Given the description of an element on the screen output the (x, y) to click on. 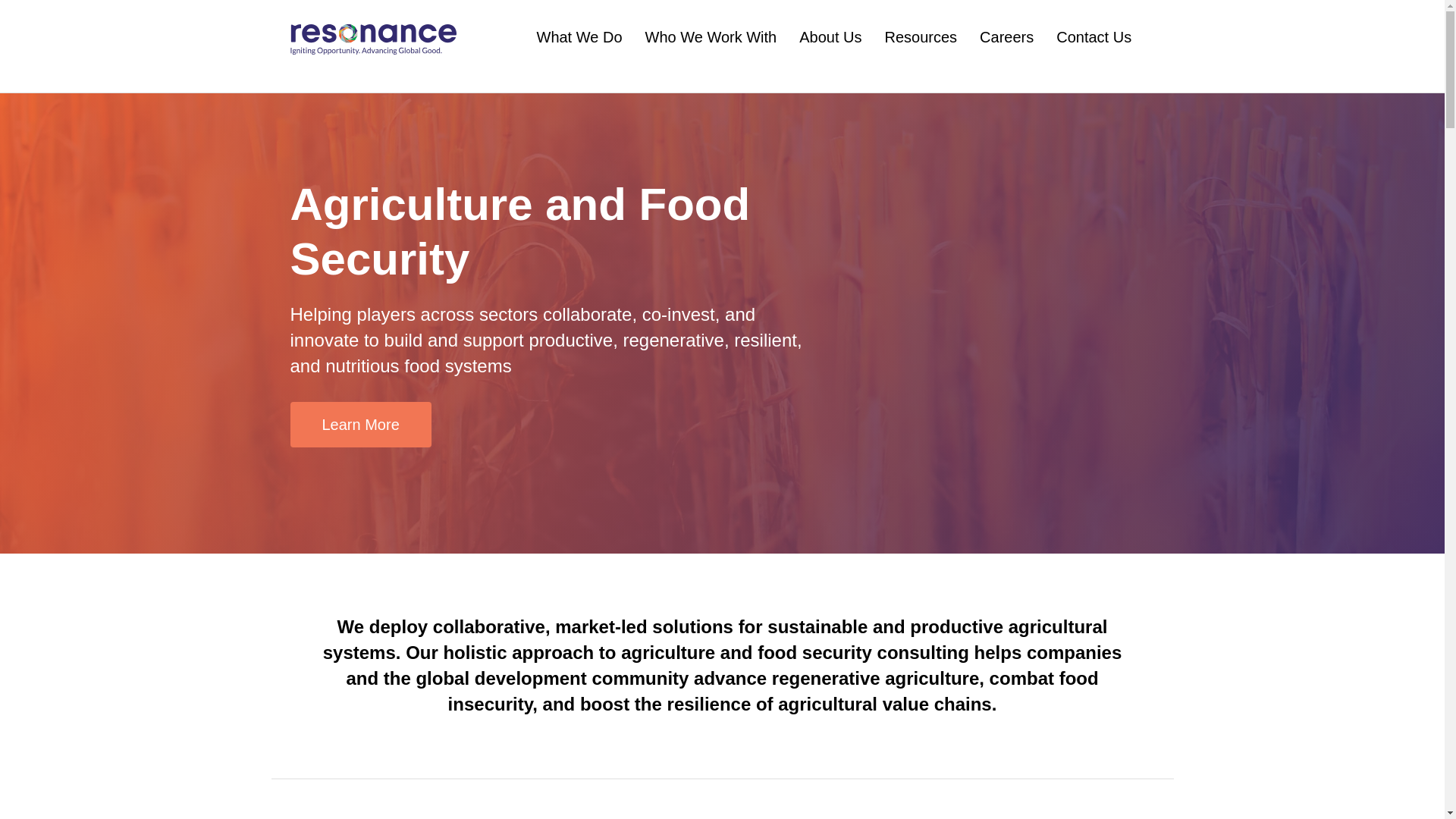
About Us (830, 48)
What We Do (580, 48)
Who We Work With (710, 48)
Learn More (359, 424)
Careers (1006, 48)
Resources (919, 48)
